Given the description of an element on the screen output the (x, y) to click on. 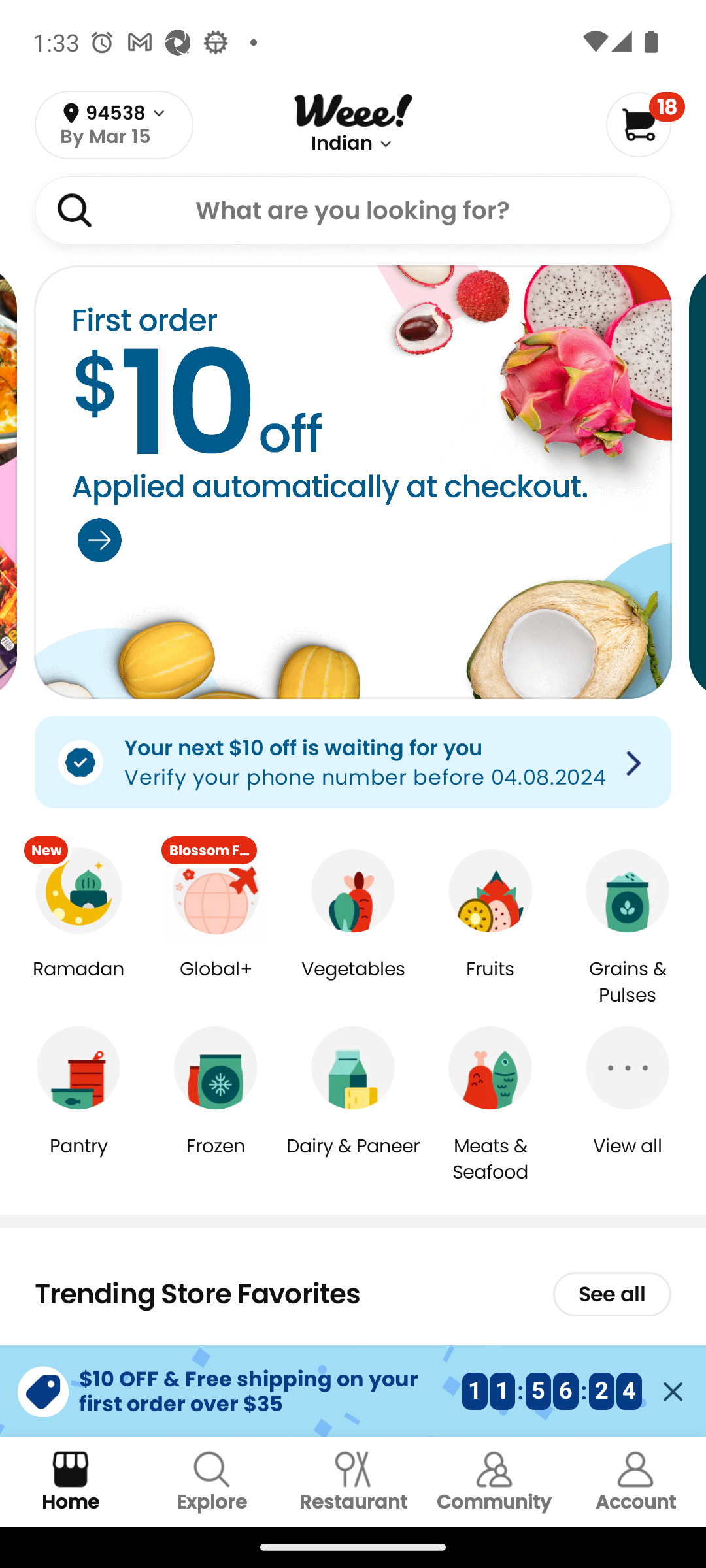
94538 By Mar 15 (113, 124)
18 (644, 124)
Indian (341, 143)
What are you looking for? (352, 209)
Ramadan (77, 982)
Global+ (215, 982)
Vegetables (352, 982)
Fruits (490, 982)
Grains & Pulses (627, 982)
Pantry (77, 1159)
Frozen (215, 1159)
Dairy & Paneer (352, 1159)
Meats & Seafood (490, 1158)
View all (627, 1159)
Home (70, 1482)
Explore (211, 1482)
Restaurant (352, 1482)
Community (493, 1482)
Account (635, 1482)
